Given the description of an element on the screen output the (x, y) to click on. 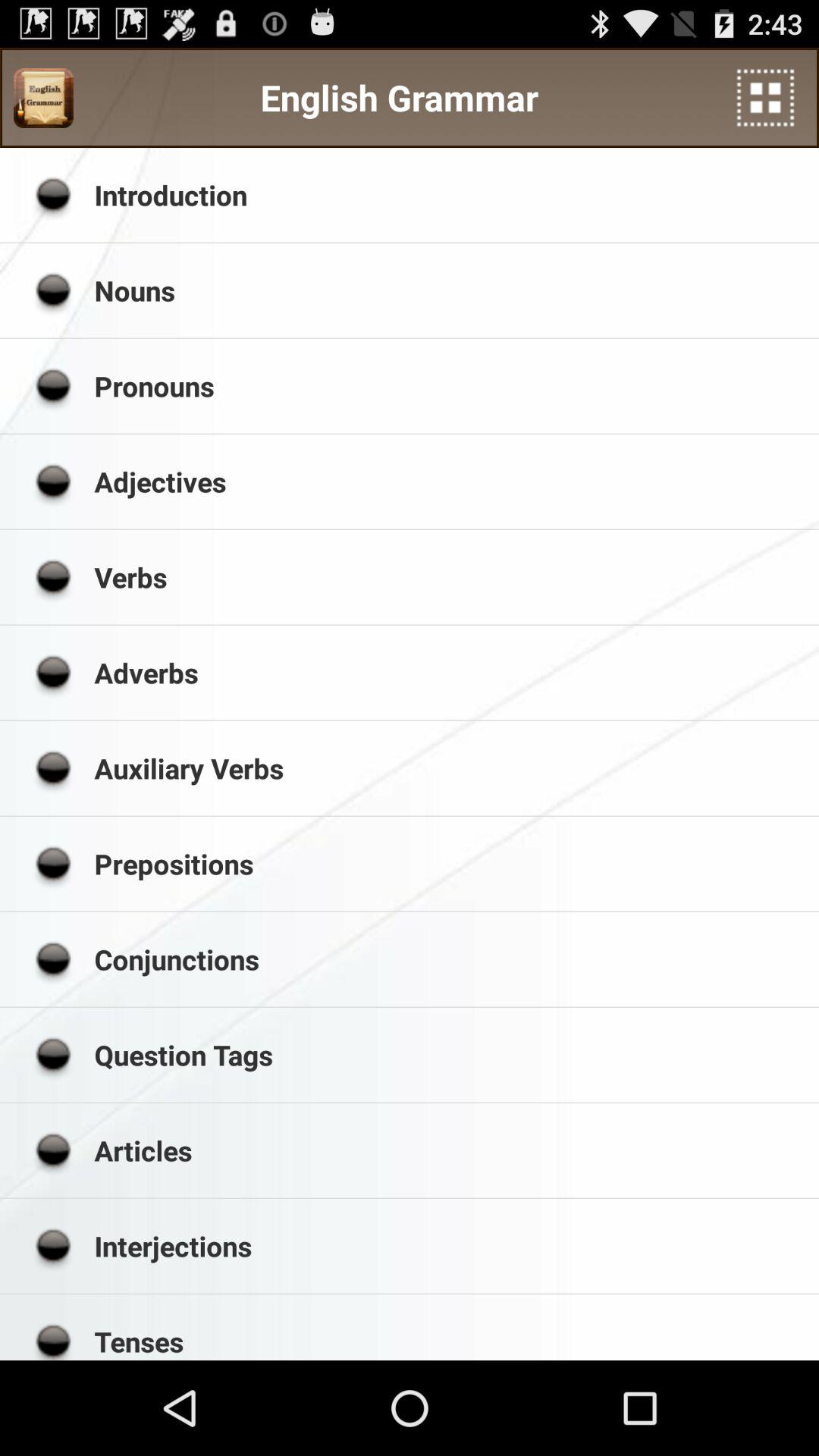
select the tenses icon (451, 1341)
